Given the description of an element on the screen output the (x, y) to click on. 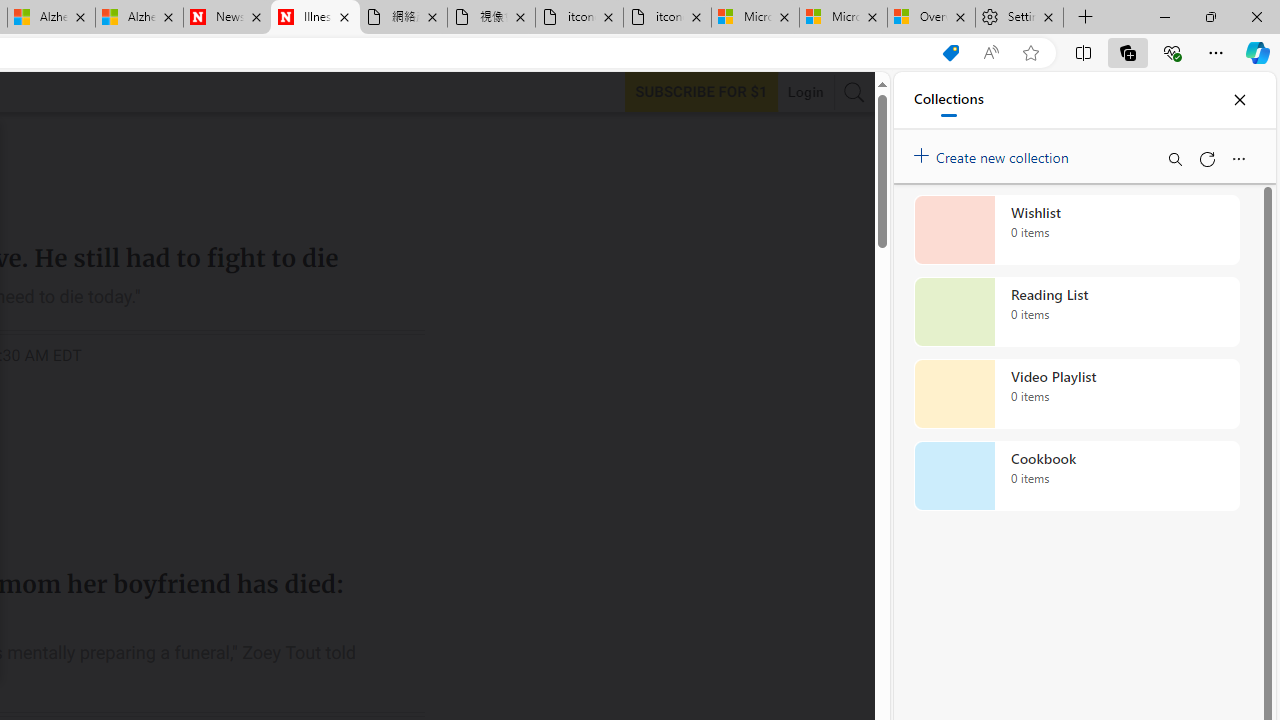
Create new collection (994, 153)
Cookbook collection, 0 items (1076, 475)
AutomationID: search-btn (854, 92)
itconcepthk.com/projector_solutions.mp4 (666, 17)
Wishlist collection, 0 items (1076, 229)
